Given the description of an element on the screen output the (x, y) to click on. 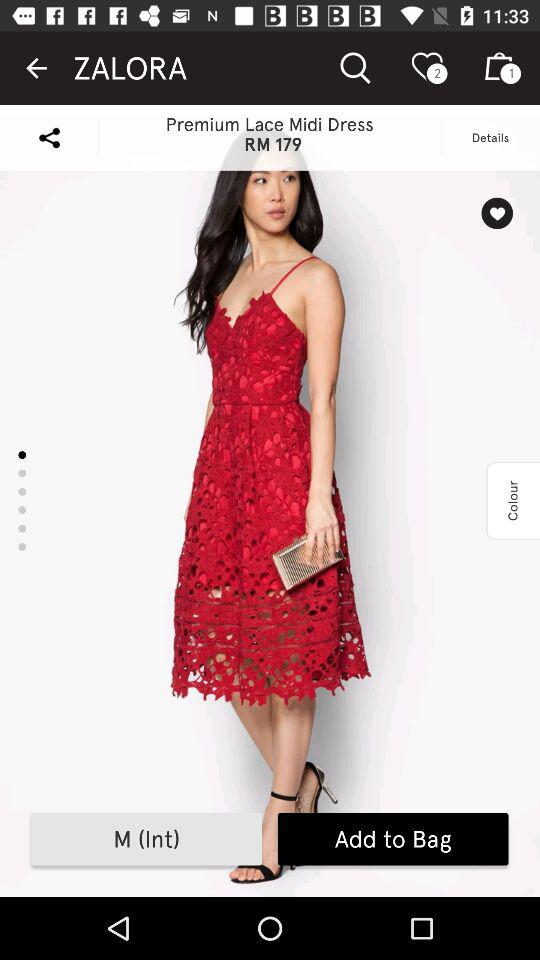
swipe to add to bag icon (392, 839)
